Given the description of an element on the screen output the (x, y) to click on. 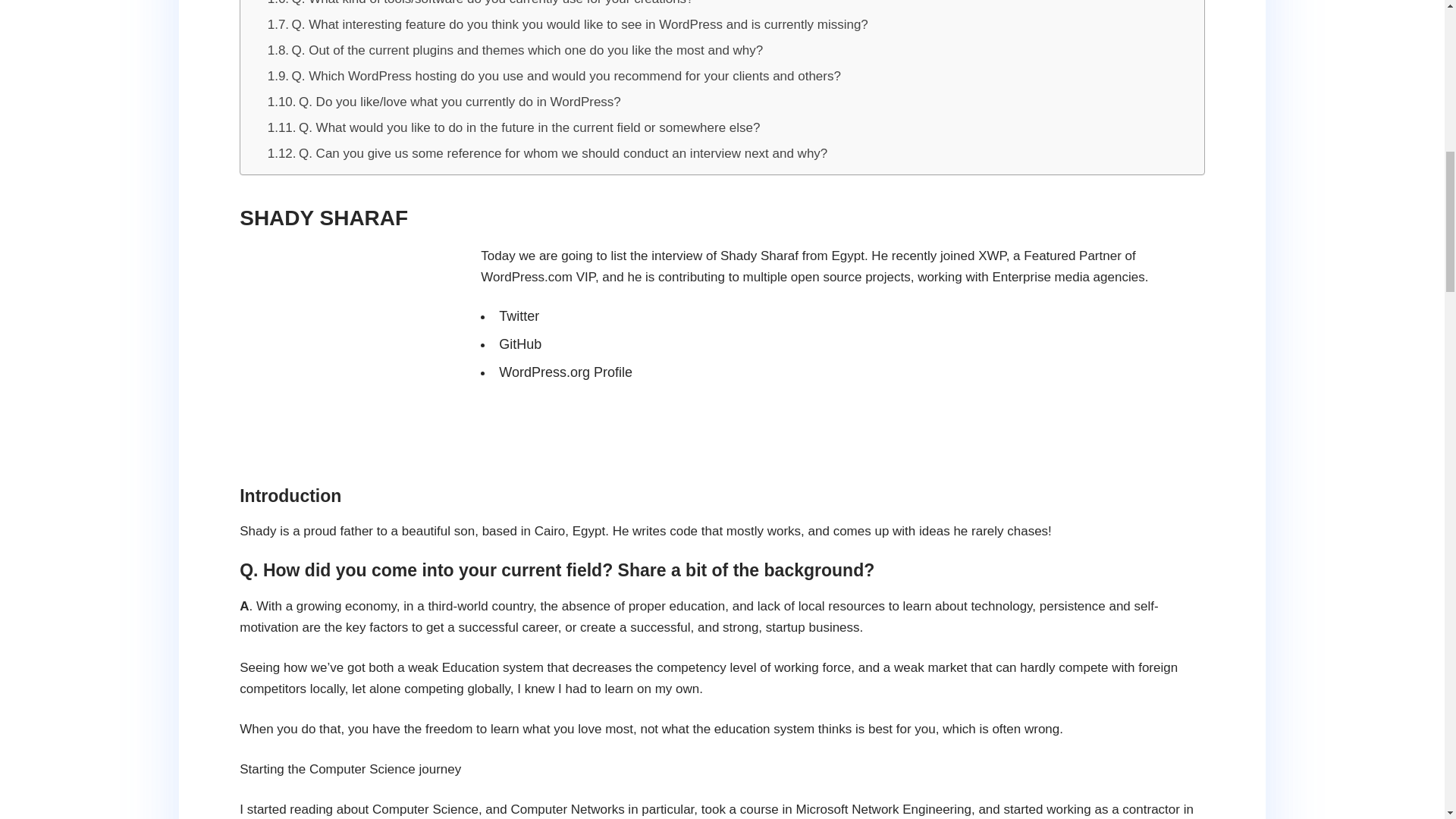
GitHub (520, 344)
WordPress.org Profile (565, 372)
